Given the description of an element on the screen output the (x, y) to click on. 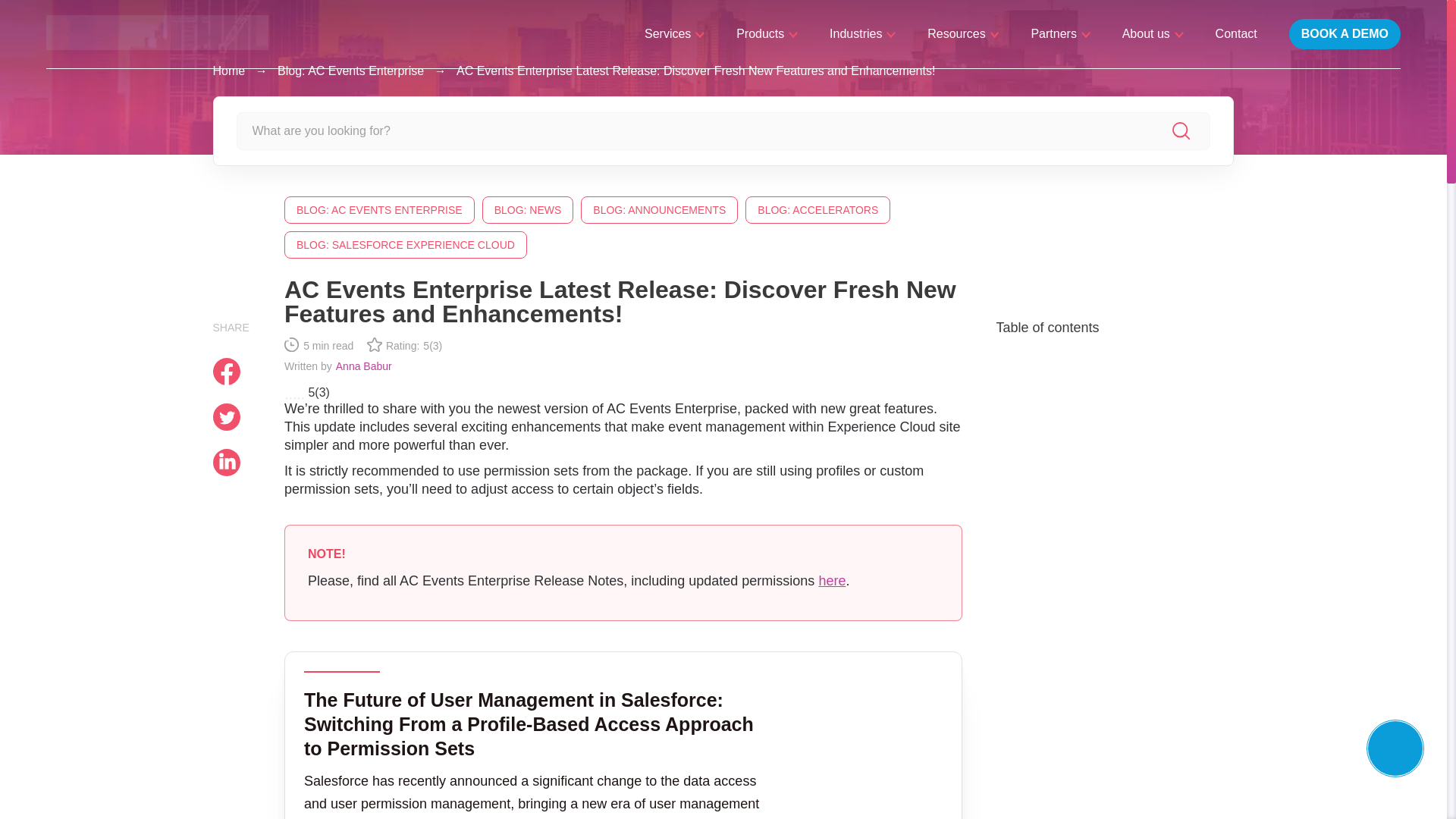
About us (1152, 33)
Contact (1236, 33)
Products (766, 33)
Partners (1059, 33)
Home (228, 70)
Resources (962, 33)
Blog: AC Events Enterprise (350, 70)
Industries (862, 33)
Services (674, 33)
